Given the description of an element on the screen output the (x, y) to click on. 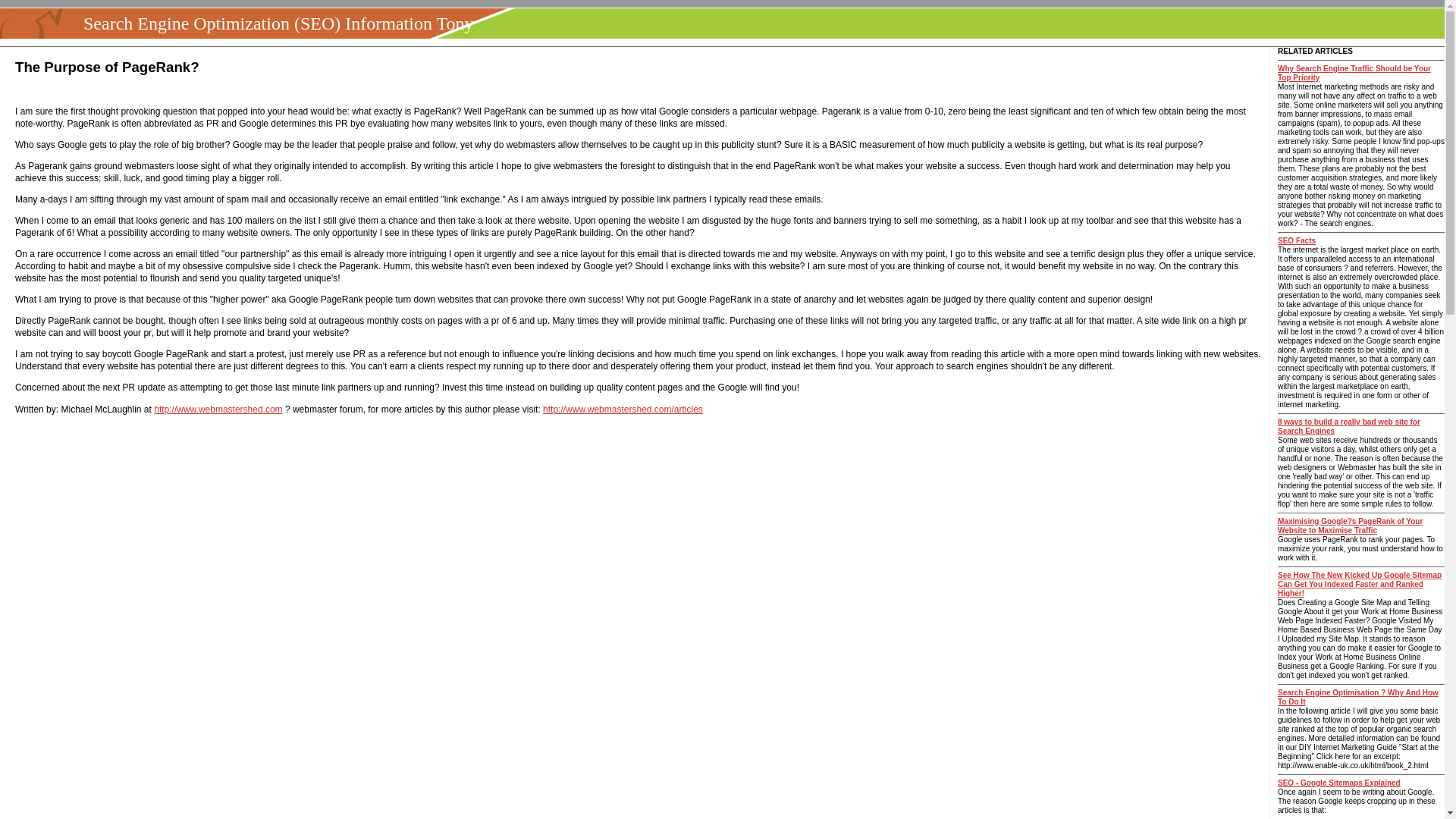
SEO Facts (1297, 240)
SEO - Google Sitemaps Explained (1339, 782)
Search Engine Optimisation ? Why And How To Do It (1358, 696)
8 ways to build a really bad web site for Search Engines (1349, 425)
Why Search Engine Traffic Should be Your Top Priority (1354, 72)
